Given the description of an element on the screen output the (x, y) to click on. 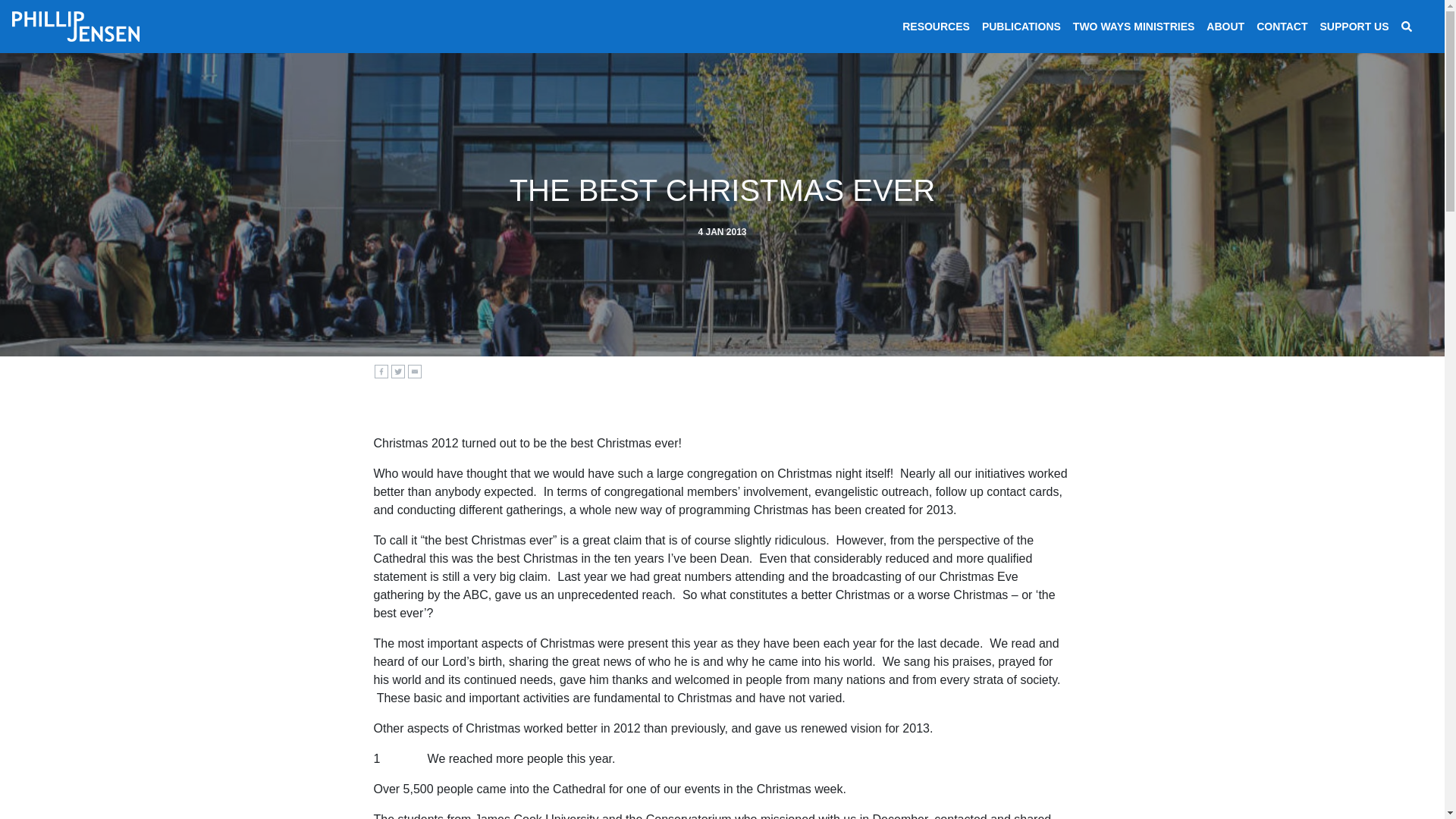
CONTACT (1281, 26)
Support us (1354, 26)
PUBLICATIONS (1021, 26)
TWO WAYS MINISTRIES (1134, 26)
ABOUT (1224, 26)
Facebook (381, 371)
Contact us (1281, 26)
SUPPORT US (1354, 26)
About Phillip Jensen (1224, 26)
Email (414, 371)
RESOURCES (935, 26)
Two Ways Ministries (1134, 26)
View talks and articles (935, 26)
Twitter (397, 371)
Publications (1021, 26)
